Given the description of an element on the screen output the (x, y) to click on. 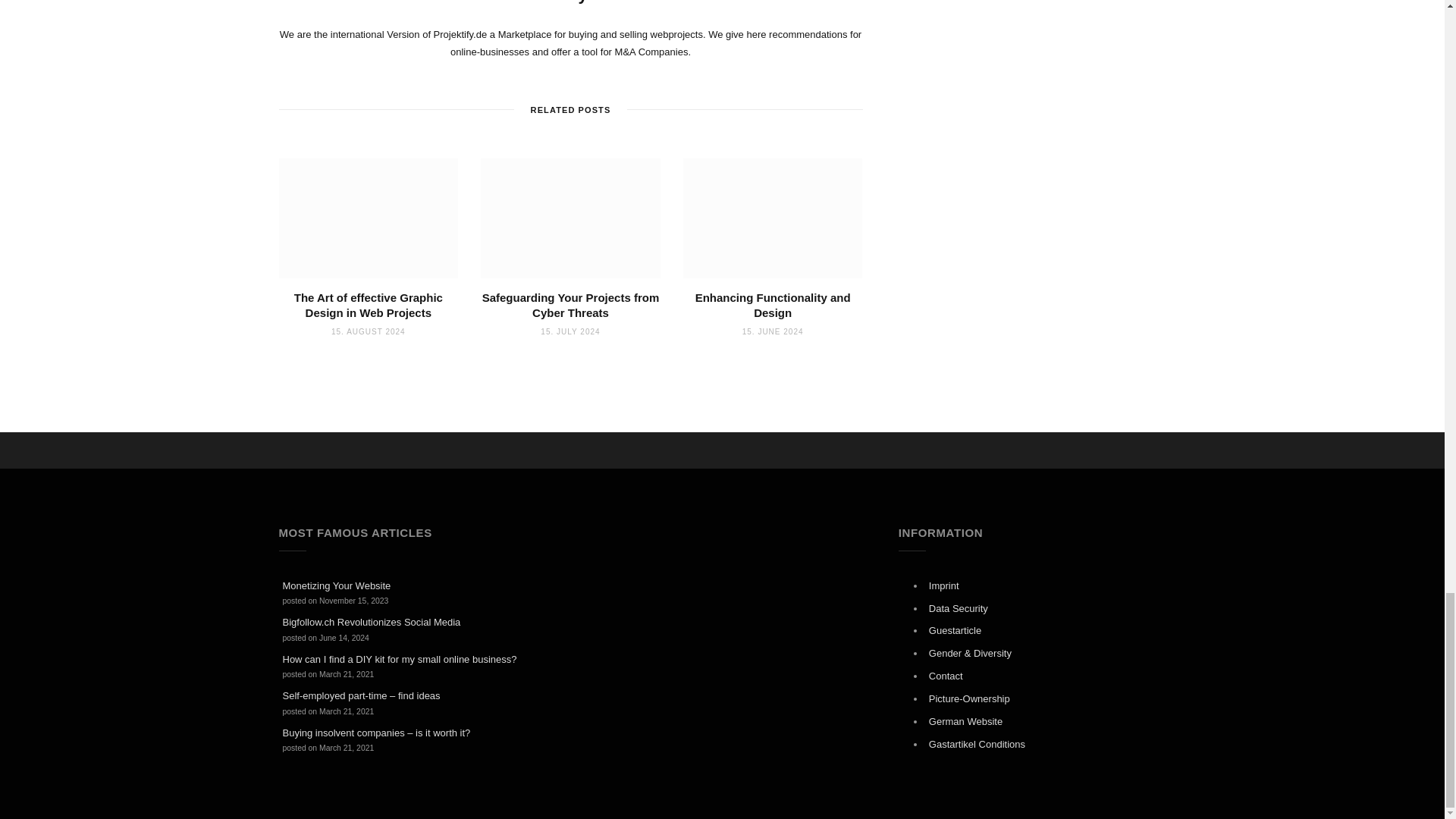
Enhancing Functionality and Design (772, 218)
Safeguarding Your Projects from Cyber Threats (570, 218)
Posts by Auctionify-Team (569, 3)
The Art of effective Graphic Design in Web Projects (368, 218)
